Given the description of an element on the screen output the (x, y) to click on. 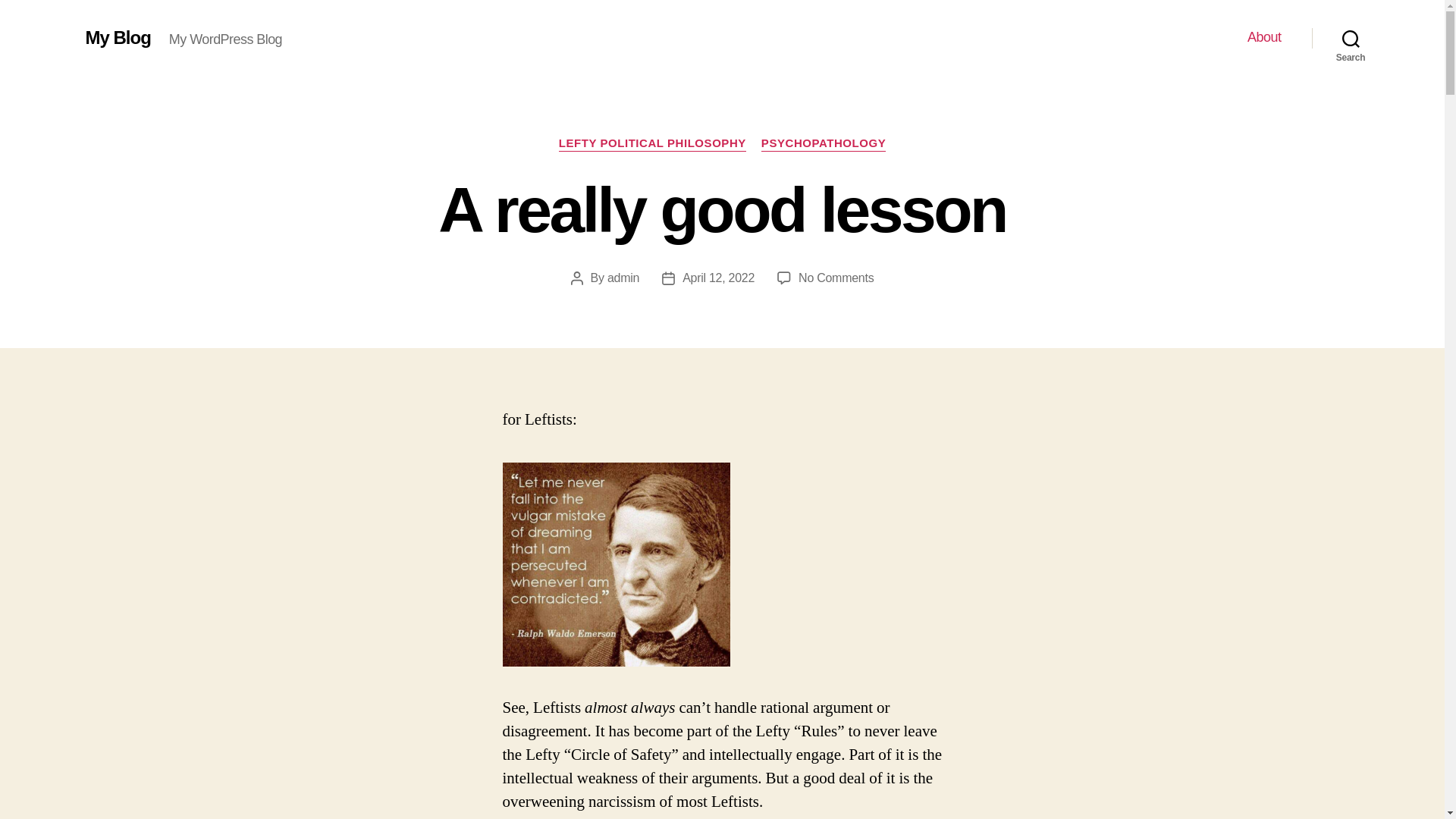
April 12, 2022 (718, 277)
About (1264, 37)
admin (835, 277)
Search (623, 277)
My Blog (1350, 37)
LEFTY POLITICAL PHILOSOPHY (116, 37)
PSYCHOPATHOLOGY (652, 143)
